Given the description of an element on the screen output the (x, y) to click on. 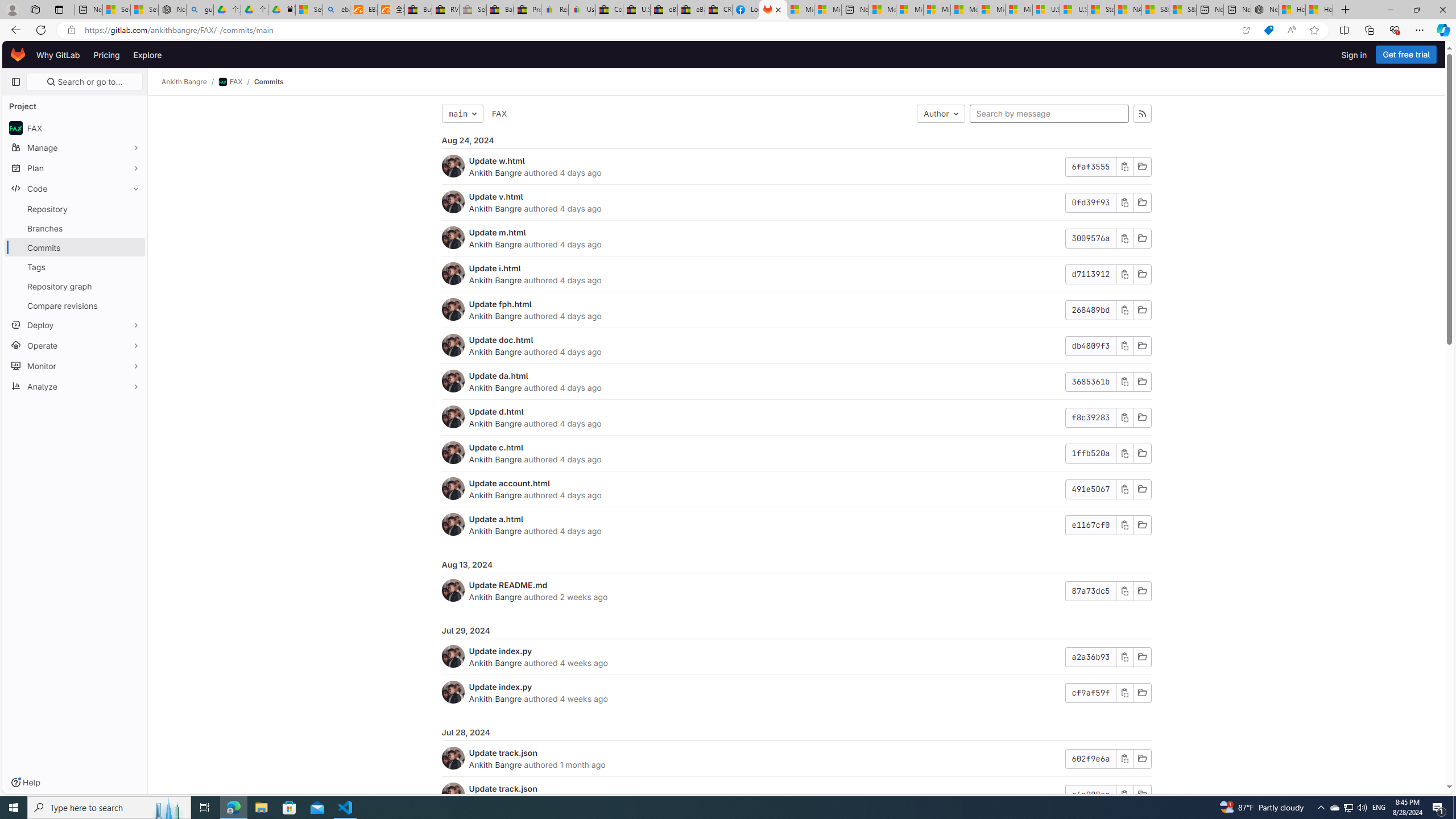
Update doc.html (500, 339)
S&P 500, Nasdaq end lower, weighed by Nvidia dip | Watch (1182, 9)
Update v.html (495, 196)
Plan (74, 167)
Commits feed (1141, 113)
Repository graph (74, 285)
Ankith Bangre's avatar (452, 793)
RV, Trailer & Camper Steps & Ladders for sale | eBay (445, 9)
